Given the description of an element on the screen output the (x, y) to click on. 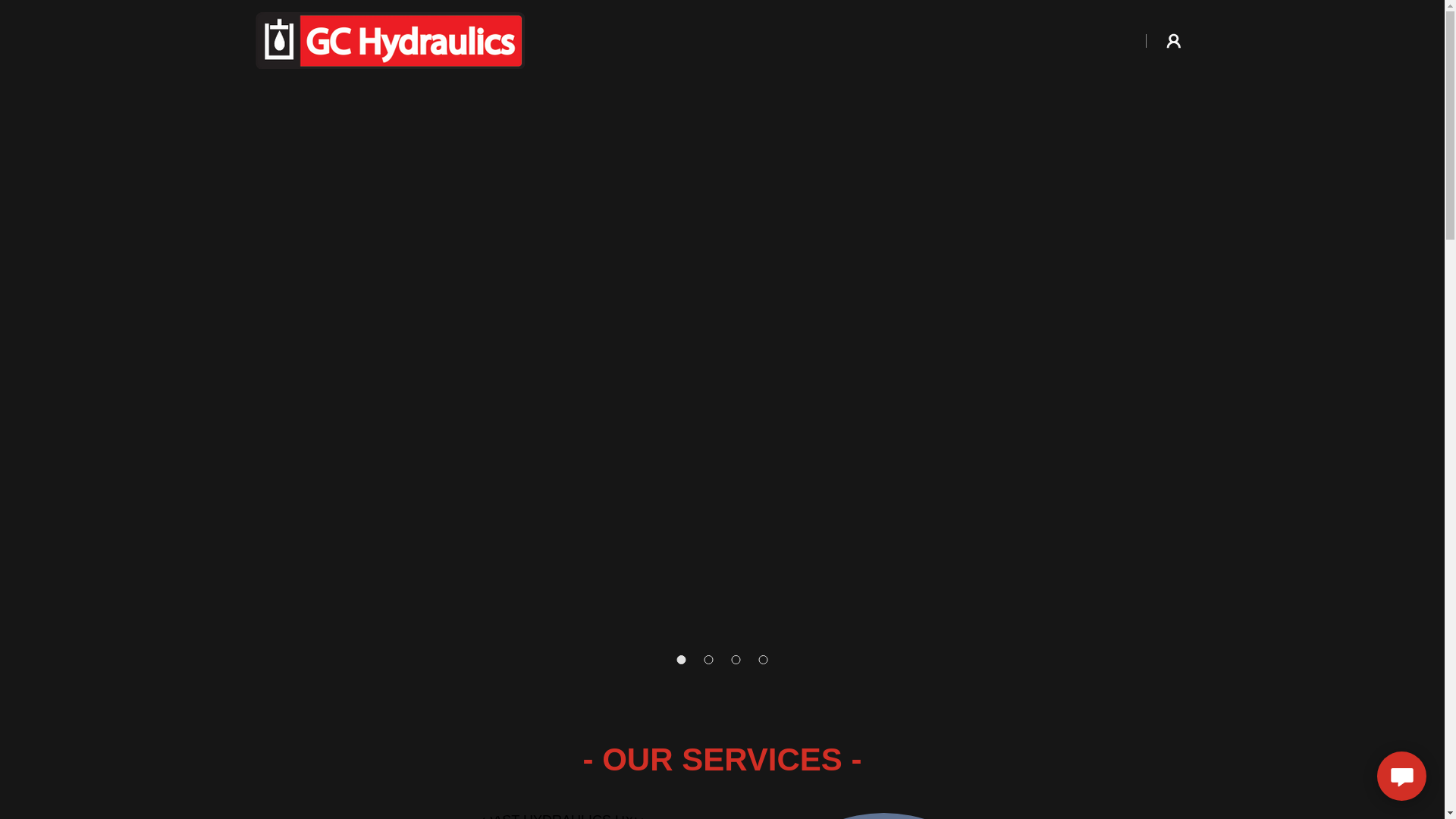
GC Hydraulics Element type: hover (389, 39)
